Given the description of an element on the screen output the (x, y) to click on. 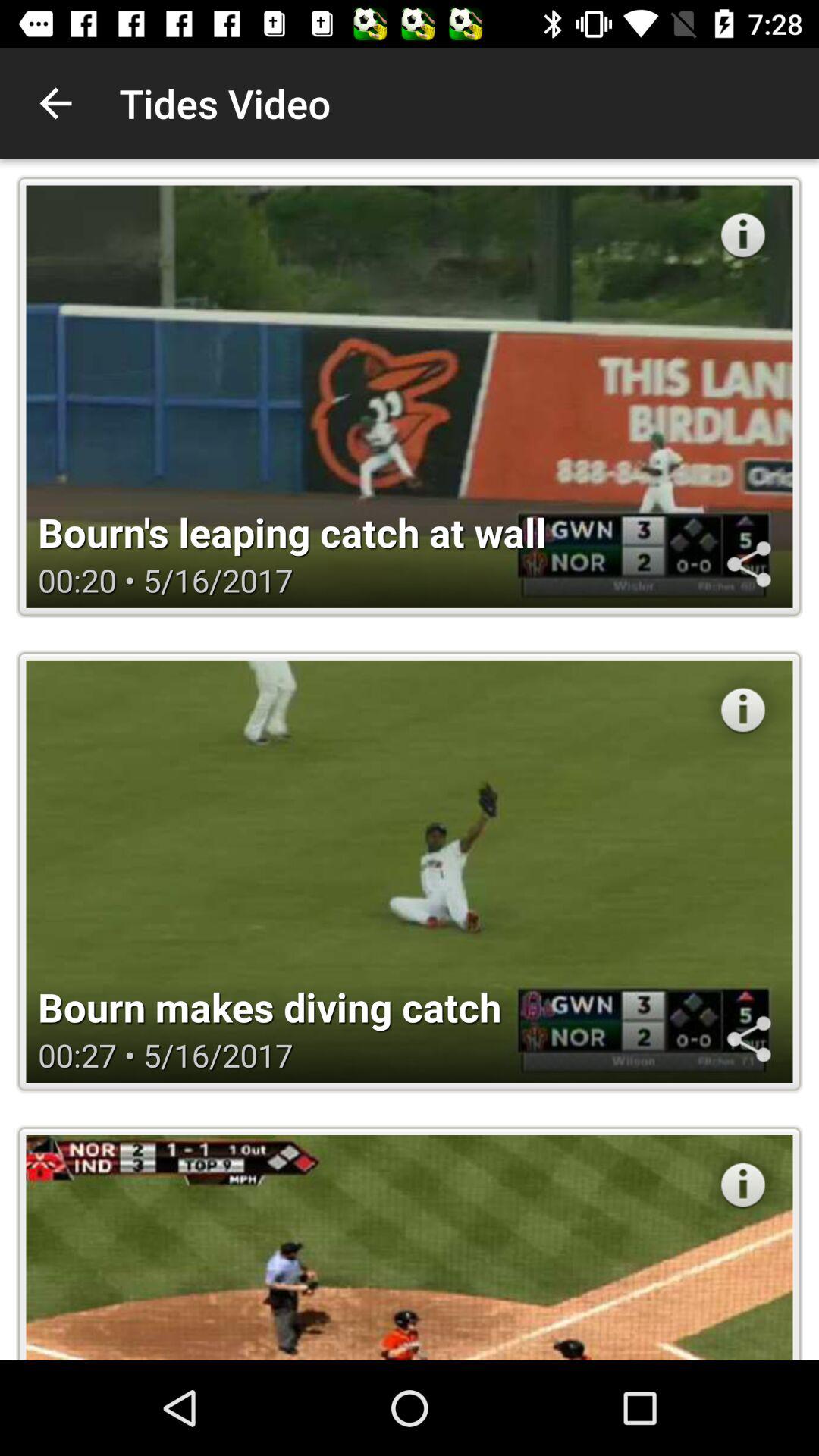
error sign (742, 1184)
